Given the description of an element on the screen output the (x, y) to click on. 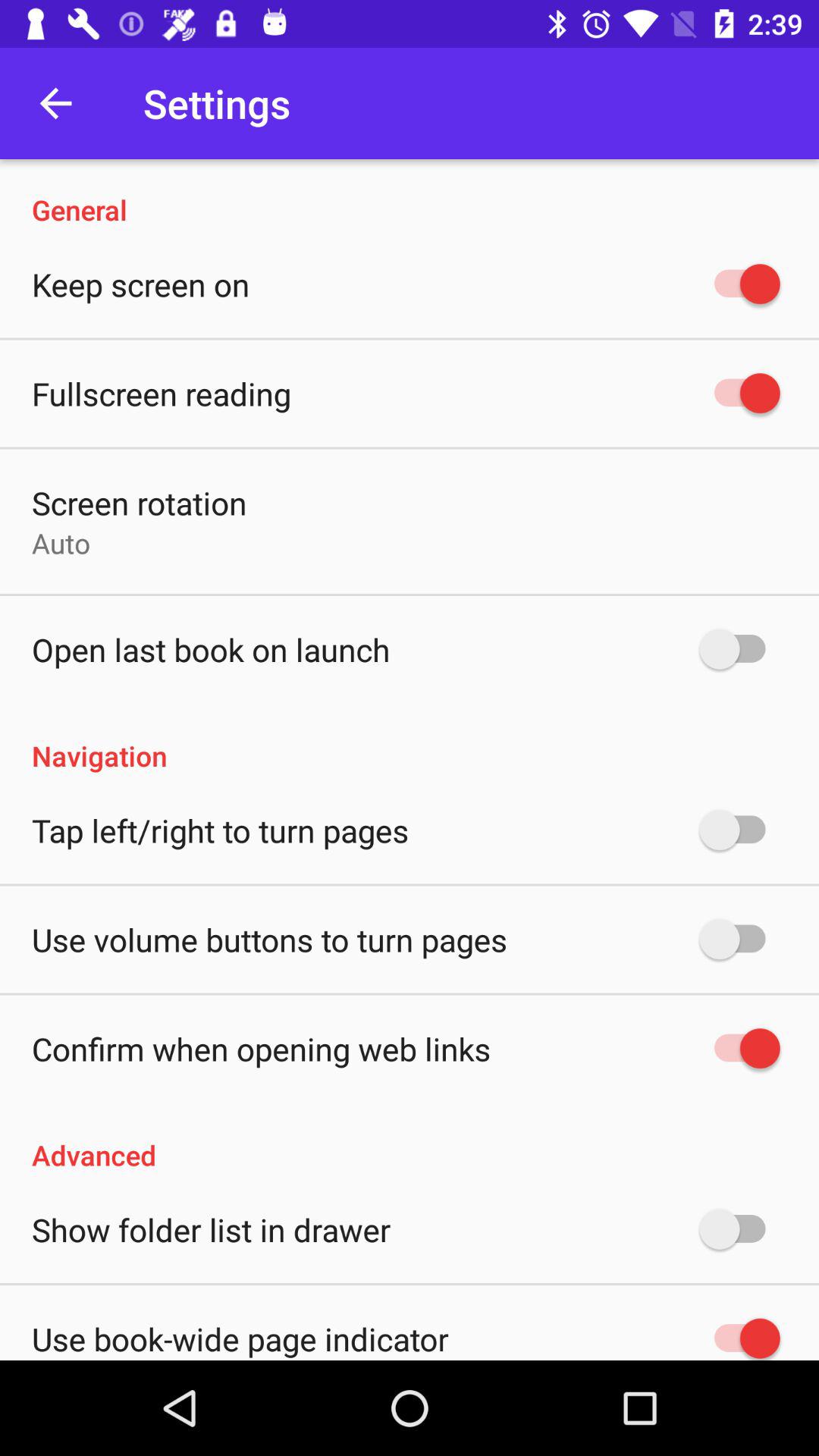
scroll to the show folder list item (210, 1229)
